Given the description of an element on the screen output the (x, y) to click on. 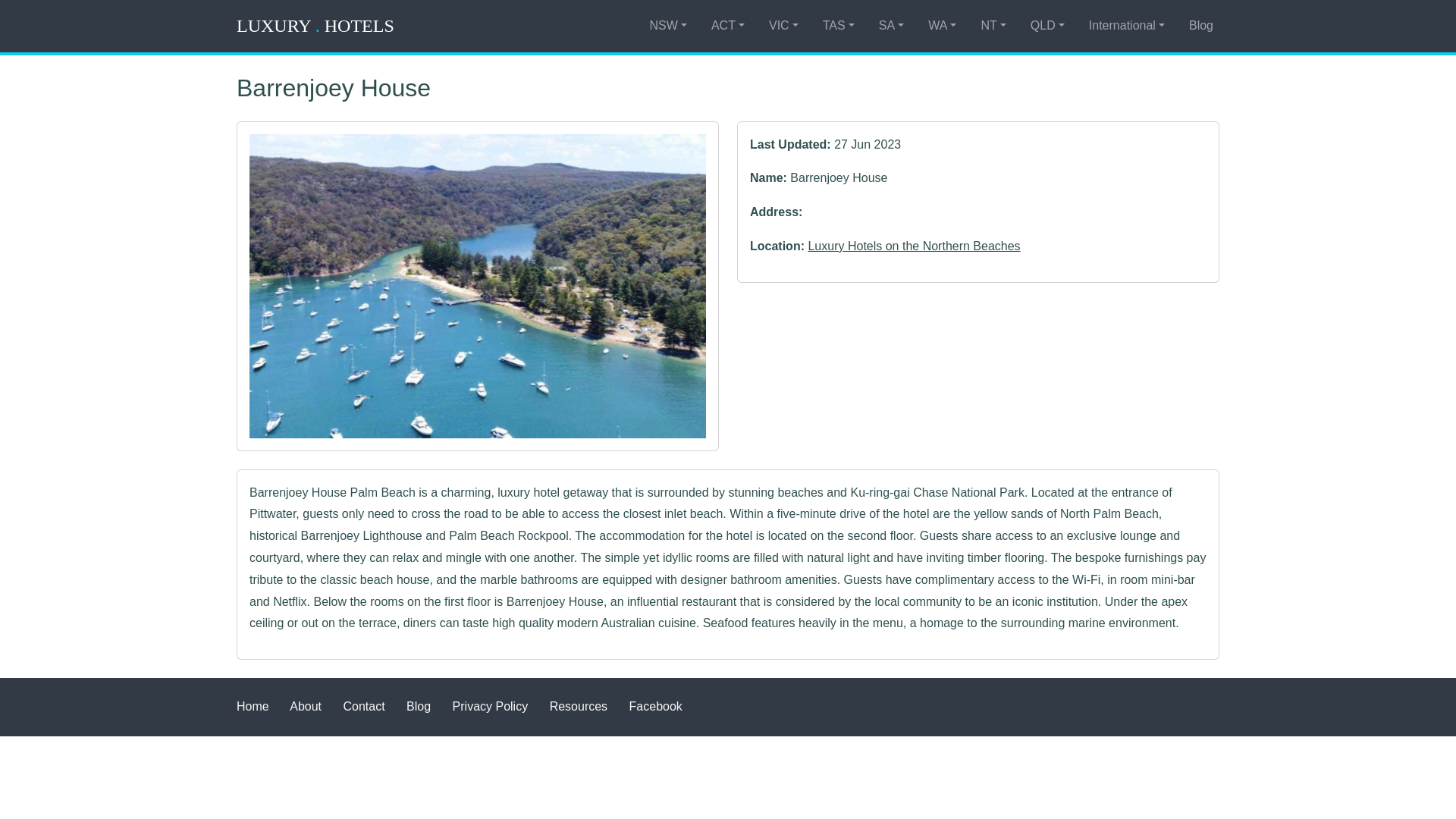
SA (891, 26)
NSW (668, 26)
QLD (1047, 26)
ACT (727, 26)
NT (992, 26)
TAS (838, 26)
VIC (783, 26)
LUXURY . HOTELS (314, 25)
WA (941, 26)
